Given the description of an element on the screen output the (x, y) to click on. 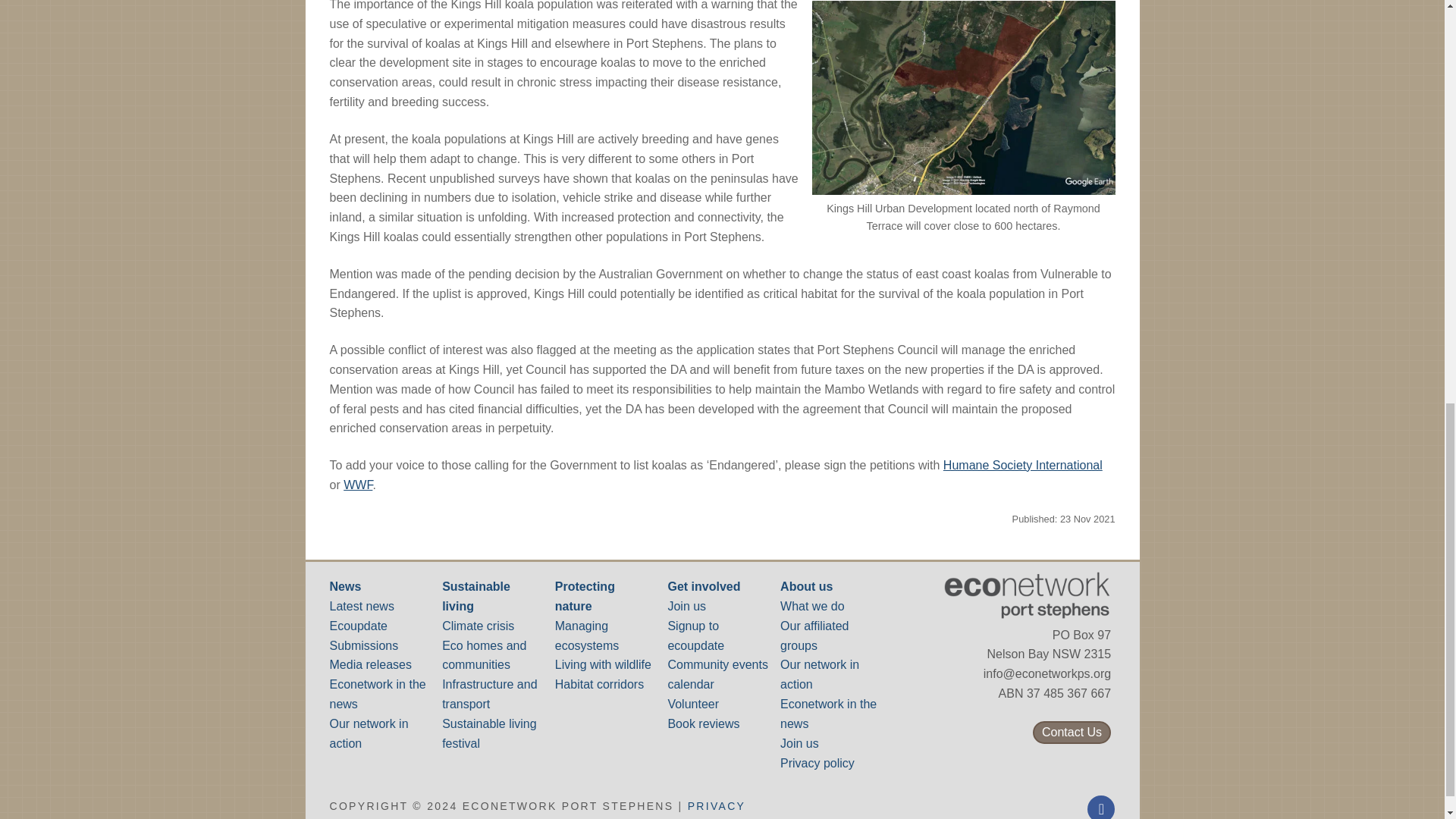
Facebook (1100, 808)
